Given the description of an element on the screen output the (x, y) to click on. 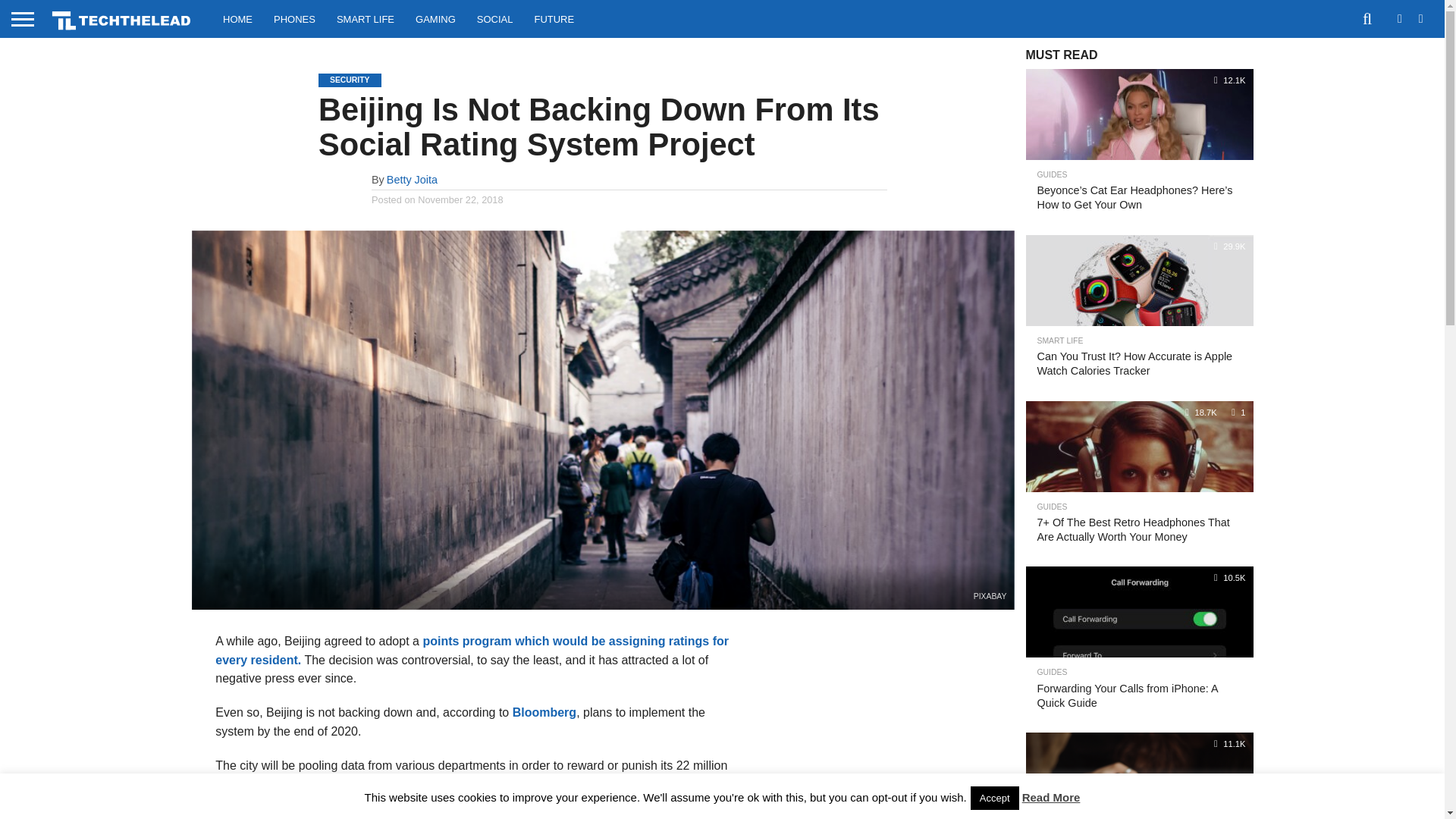
PHONES (294, 18)
SOCIAL (494, 18)
HOME (237, 18)
FUTURE (553, 18)
GAMING (434, 18)
SMART LIFE (365, 18)
Posts by Betty Joita (412, 179)
